Given the description of an element on the screen output the (x, y) to click on. 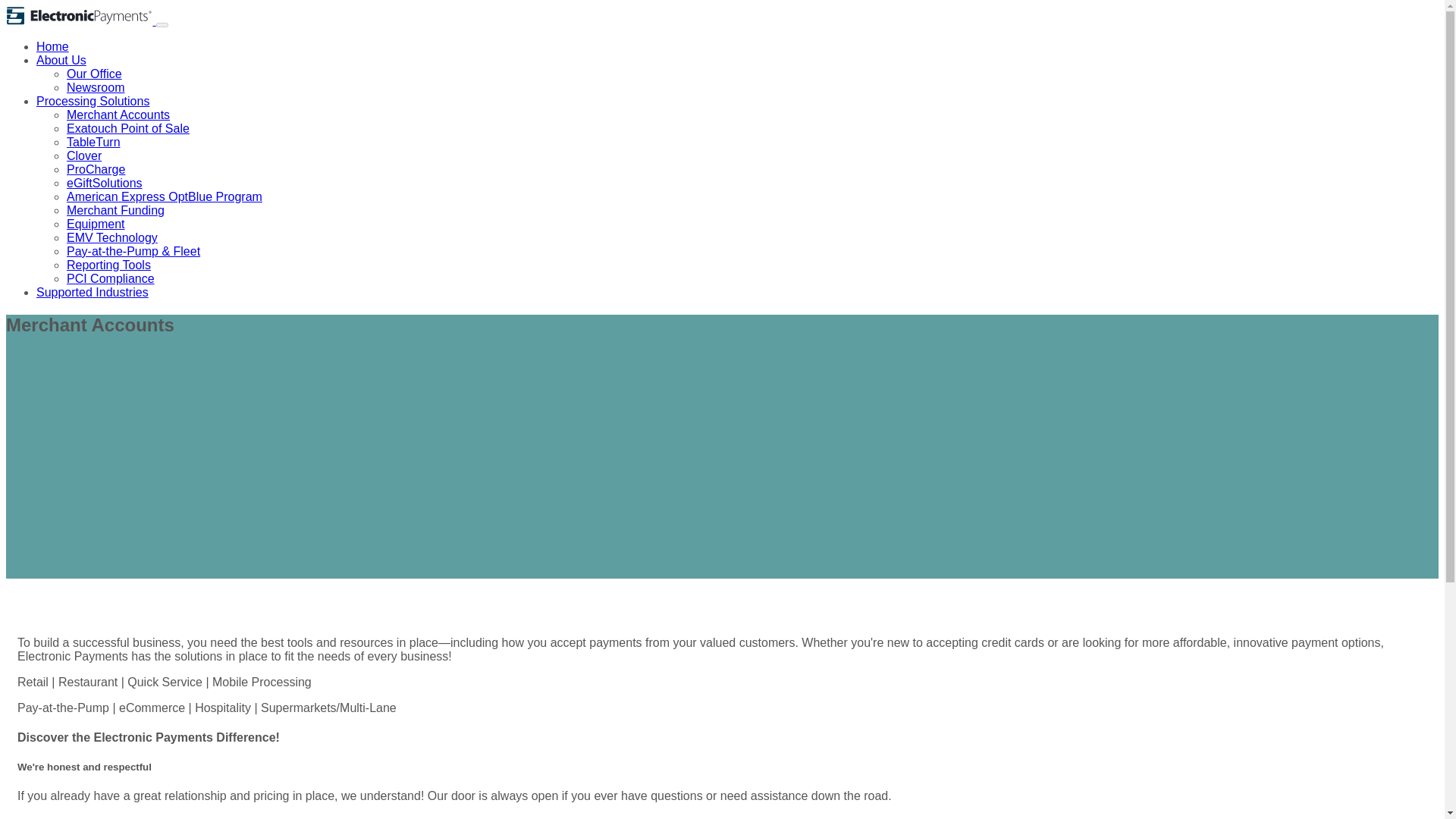
eGiftSolutions (104, 182)
ProCharge (95, 169)
American Express OptBlue Program (164, 196)
Home (52, 46)
Our Office (94, 73)
TableTurn (93, 141)
Clover (83, 155)
Merchant Accounts (118, 114)
About Us (60, 60)
Reporting Tools (108, 264)
Processing Solutions (92, 101)
Supported Industries (92, 291)
Newsroom (94, 87)
PCI Compliance (110, 278)
Merchant Funding (115, 210)
